Given the description of an element on the screen output the (x, y) to click on. 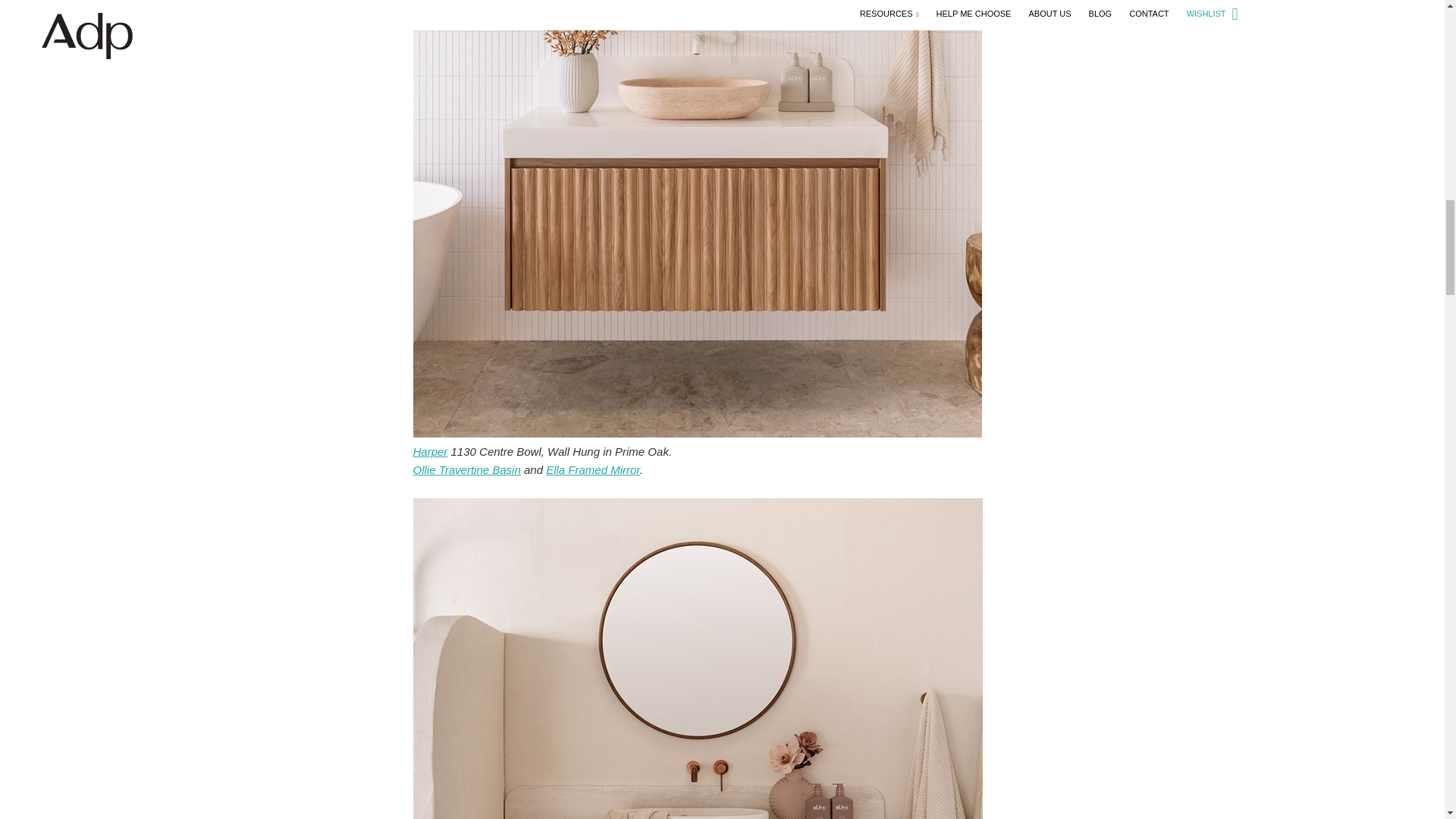
Harper (429, 451)
Ollie (465, 469)
Ella (593, 469)
